Given the description of an element on the screen output the (x, y) to click on. 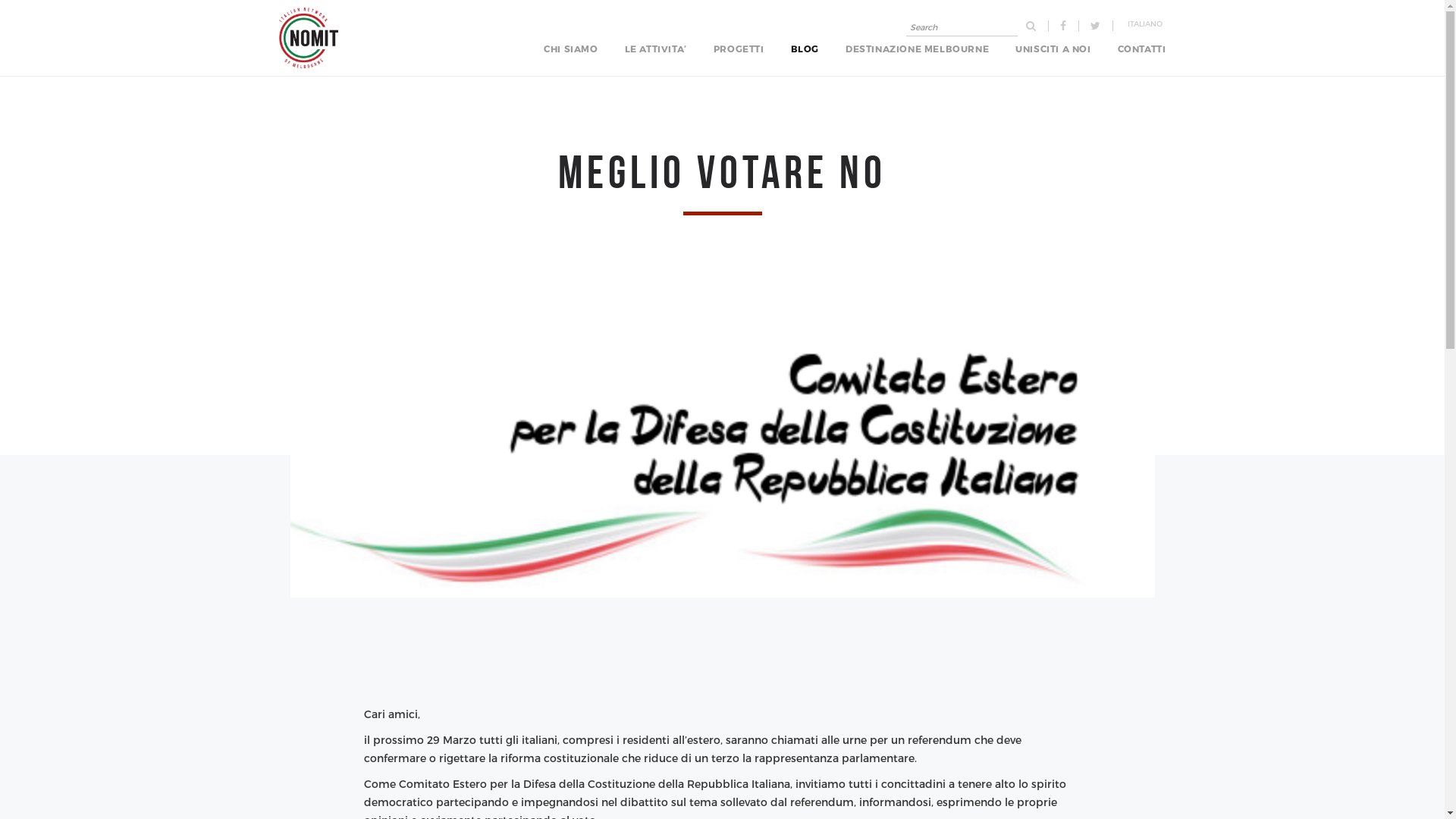
CHI SIAMO Element type: text (570, 48)
PROGETTI Element type: text (738, 48)
CONTATTI Element type: text (1141, 48)
Search for: Element type: hover (960, 26)
DESTINAZIONE MELBOURNE Element type: text (916, 48)
ITALIANO Element type: text (1144, 23)
BLOG Element type: text (804, 48)
Search Element type: text (64, 9)
UNISCITI A NOI Element type: text (1052, 48)
